Given the description of an element on the screen output the (x, y) to click on. 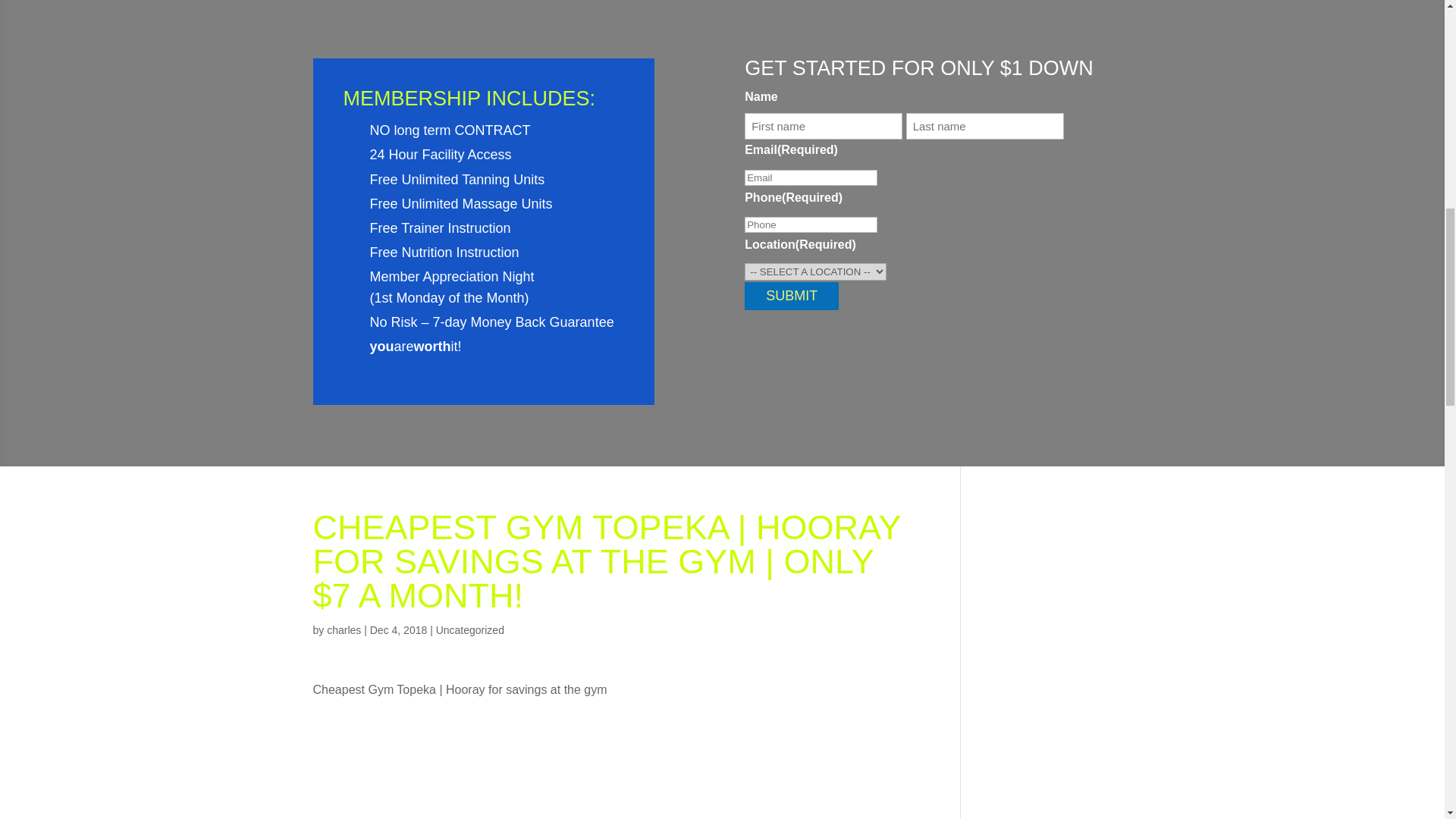
charles (343, 630)
Submit (791, 295)
Submit (791, 295)
Posts by charles (343, 630)
